Given the description of an element on the screen output the (x, y) to click on. 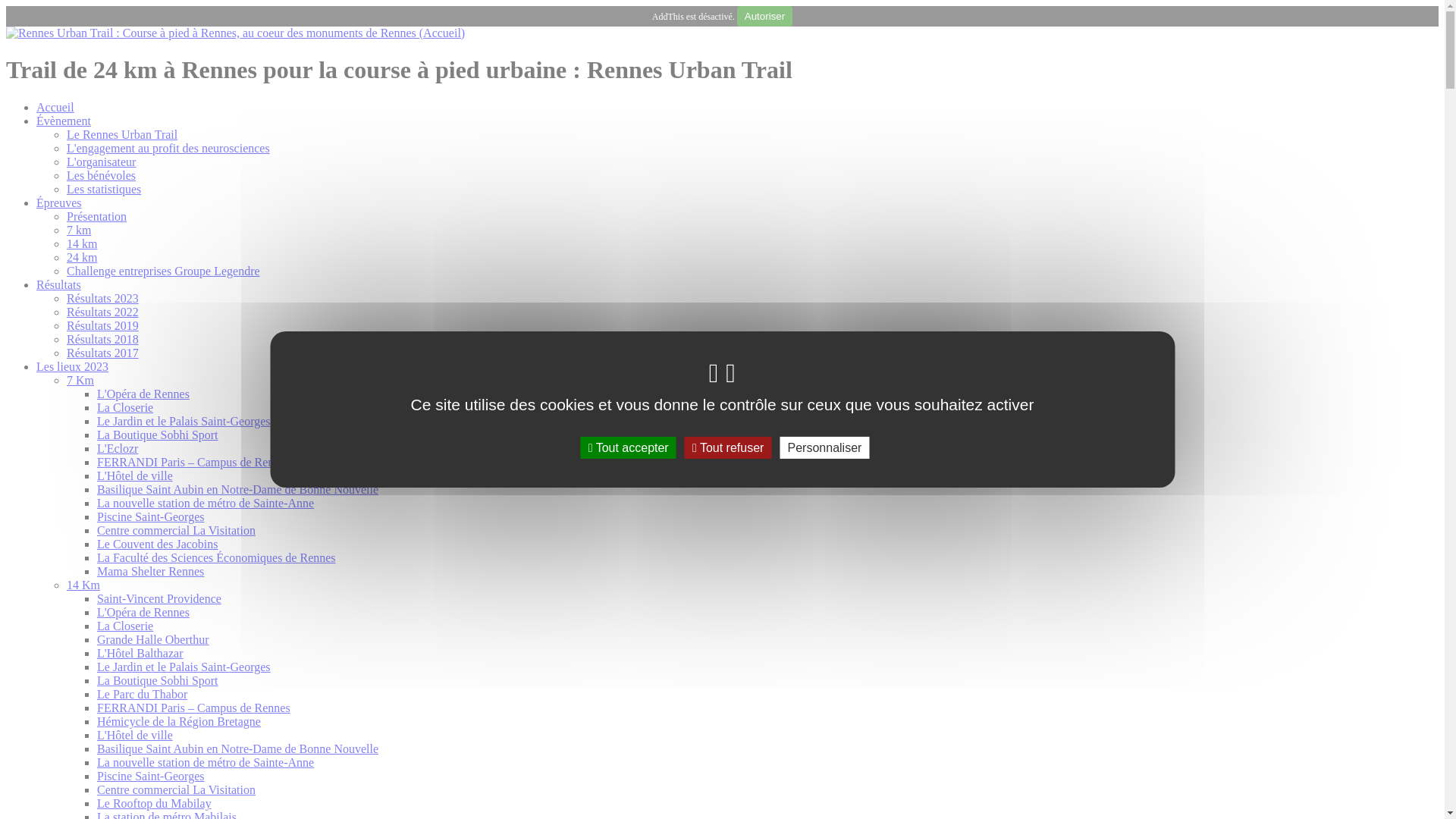
Autoriser Element type: text (764, 16)
Les statistiques Element type: text (103, 188)
La Closerie Element type: text (125, 625)
Le Jardin et le Palais Saint-Georges Element type: text (183, 666)
L'Eclozr Element type: text (117, 448)
14 Km Element type: text (83, 584)
Le Rooftop du Mabilay Element type: text (154, 803)
Basilique Saint Aubin en Notre-Dame de Bonne Nouvelle Element type: text (237, 748)
Le Couvent des Jacobins Element type: text (157, 543)
Basilique Saint Aubin en Notre-Dame de Bonne Nouvelle Element type: text (237, 489)
L'organisateur Element type: text (100, 161)
Le Jardin et le Palais Saint-Georges Element type: text (183, 420)
7 Km Element type: text (80, 379)
7 km Element type: text (78, 229)
Saint-Vincent Providence Element type: text (159, 598)
Les lieux 2023 Element type: text (72, 366)
Mama Shelter Rennes Element type: text (150, 570)
Centre commercial La Visitation Element type: text (176, 789)
Centre commercial La Visitation Element type: text (176, 530)
14 km Element type: text (81, 243)
Le Rennes Urban Trail Element type: text (121, 134)
La Boutique Sobhi Sport Element type: text (157, 434)
Tout refuser Element type: text (727, 447)
Personnaliser Element type: text (824, 447)
Accueil Element type: text (55, 106)
Le Parc du Thabor Element type: text (142, 693)
24 km Element type: text (81, 257)
La Boutique Sobhi Sport Element type: text (157, 680)
Tout accepter Element type: text (628, 447)
Challenge entreprises Groupe Legendre Element type: text (163, 270)
L'engagement au profit des neurosciences Element type: text (167, 147)
Grande Halle Oberthur Element type: text (153, 639)
Piscine Saint-Georges Element type: text (150, 516)
La Closerie Element type: text (125, 407)
Piscine Saint-Georges Element type: text (150, 775)
